Given the description of an element on the screen output the (x, y) to click on. 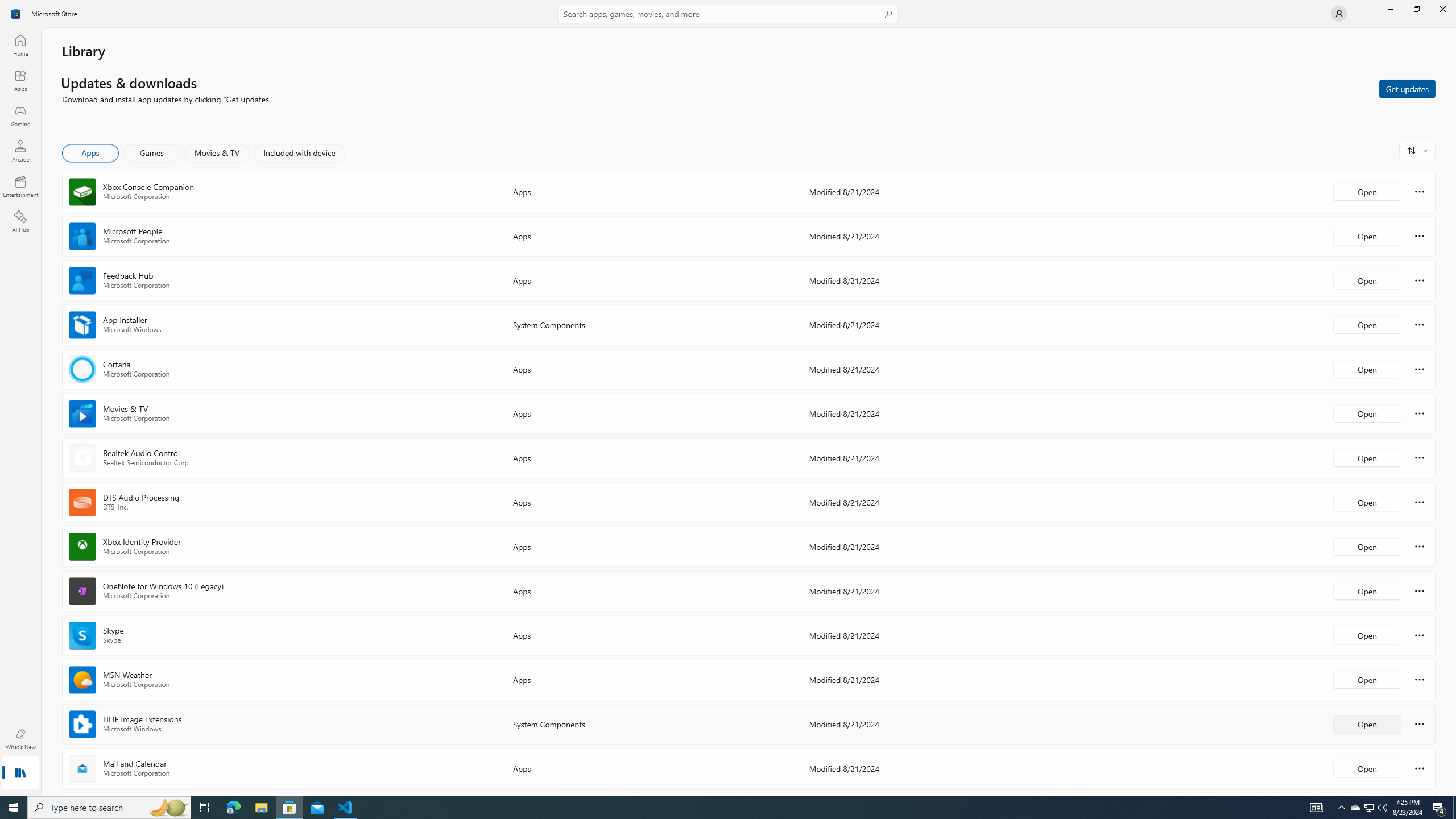
Included with device (299, 153)
Movies & TV (216, 153)
Get updates (1406, 88)
More options (1419, 768)
AutomationID: NavigationControl (728, 398)
Sort and filter (1417, 149)
Games (151, 153)
Search (727, 13)
